Given the description of an element on the screen output the (x, y) to click on. 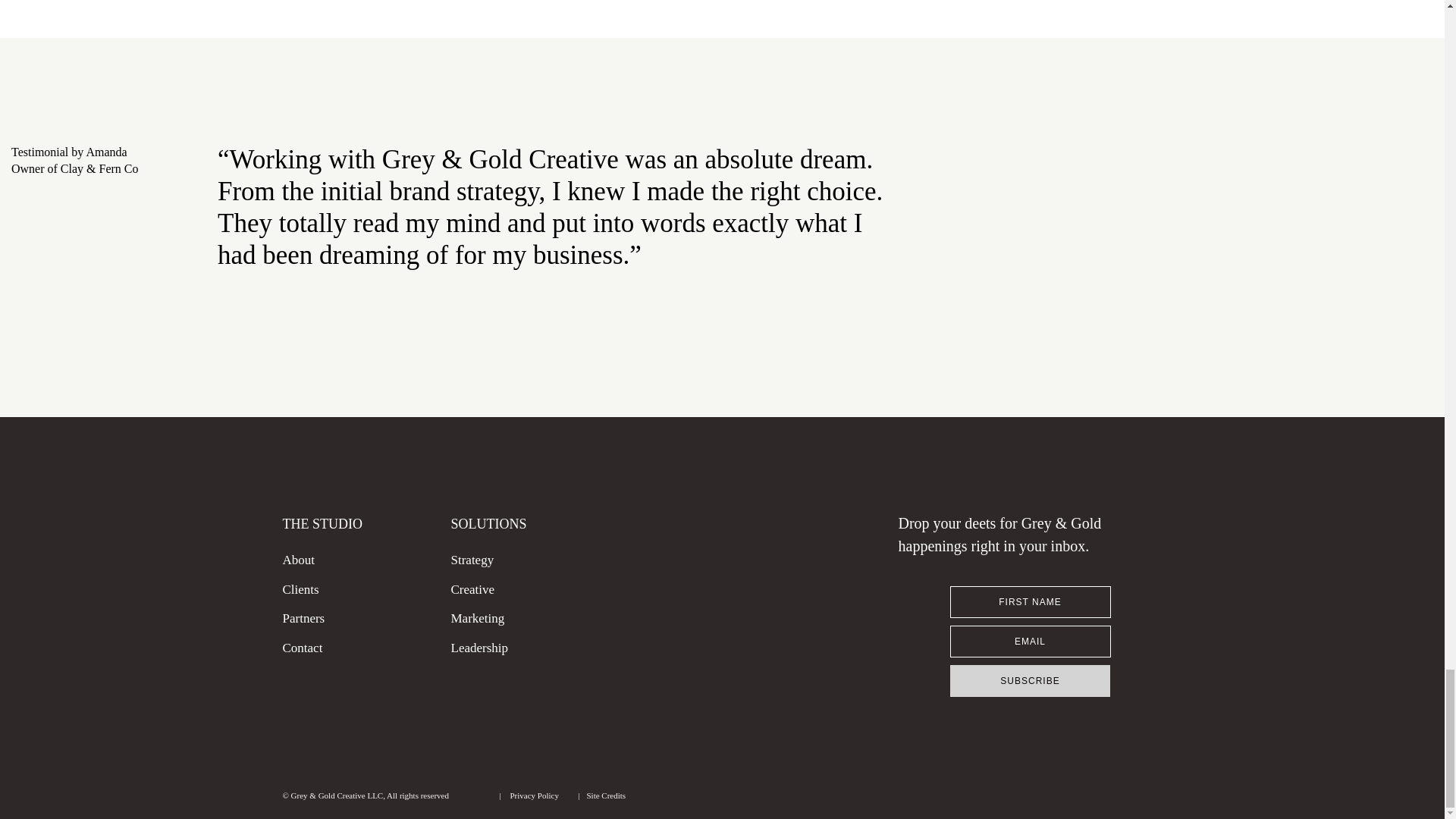
Partners (313, 619)
Site Credits (619, 796)
Clients (306, 590)
About (306, 561)
Marketing (488, 619)
Contact (313, 649)
Leadership (512, 649)
SUBSCRIBE (1029, 680)
Strategy (482, 561)
Creative (482, 590)
